Given the description of an element on the screen output the (x, y) to click on. 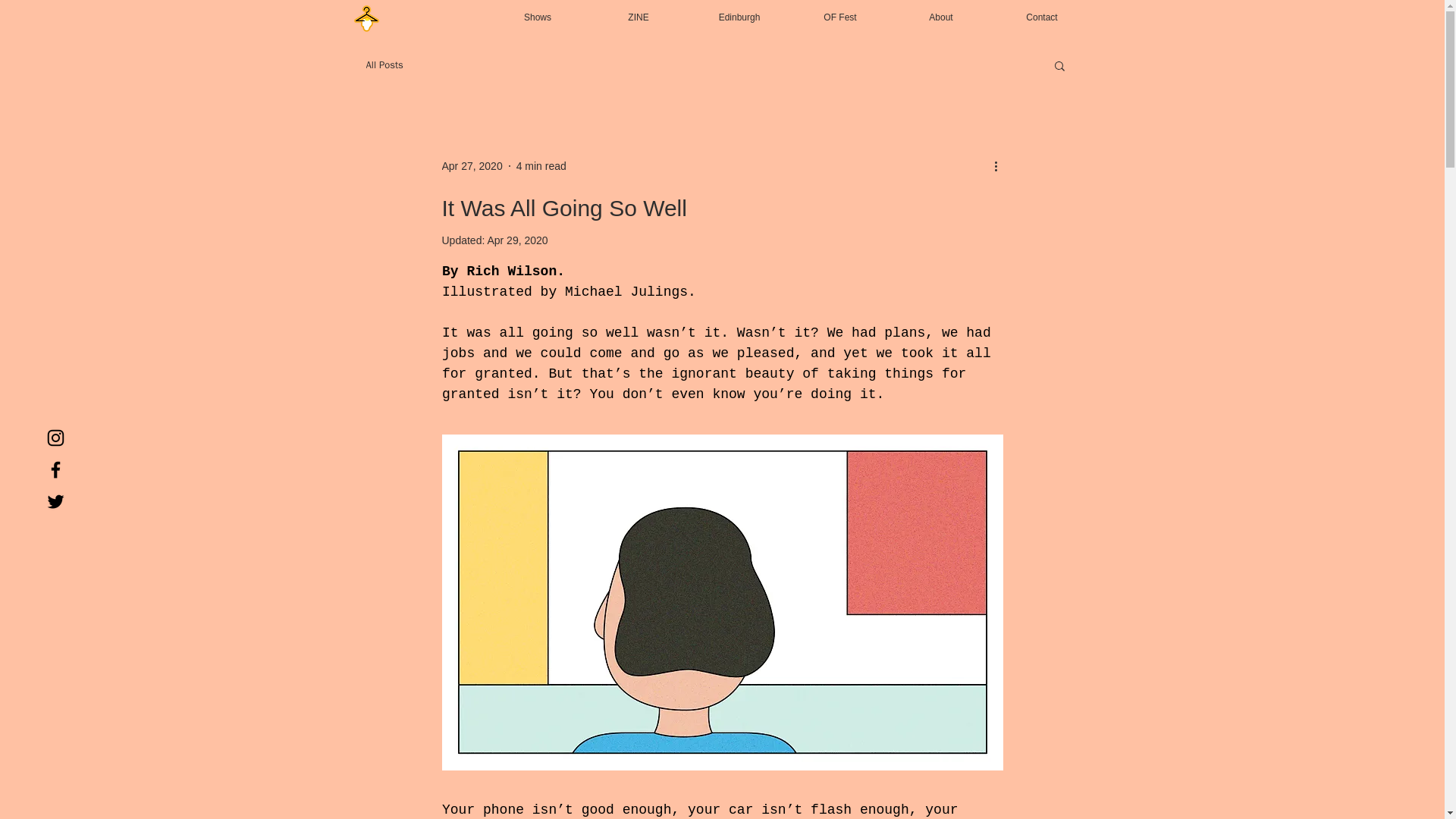
Apr 27, 2020 (471, 164)
Shows (537, 11)
All Posts (384, 65)
4 min read (541, 164)
OF Fest (840, 11)
Edinburgh (738, 11)
ZINE (638, 11)
About (940, 11)
Apr 29, 2020 (516, 240)
Contact (1042, 11)
